Given the description of an element on the screen output the (x, y) to click on. 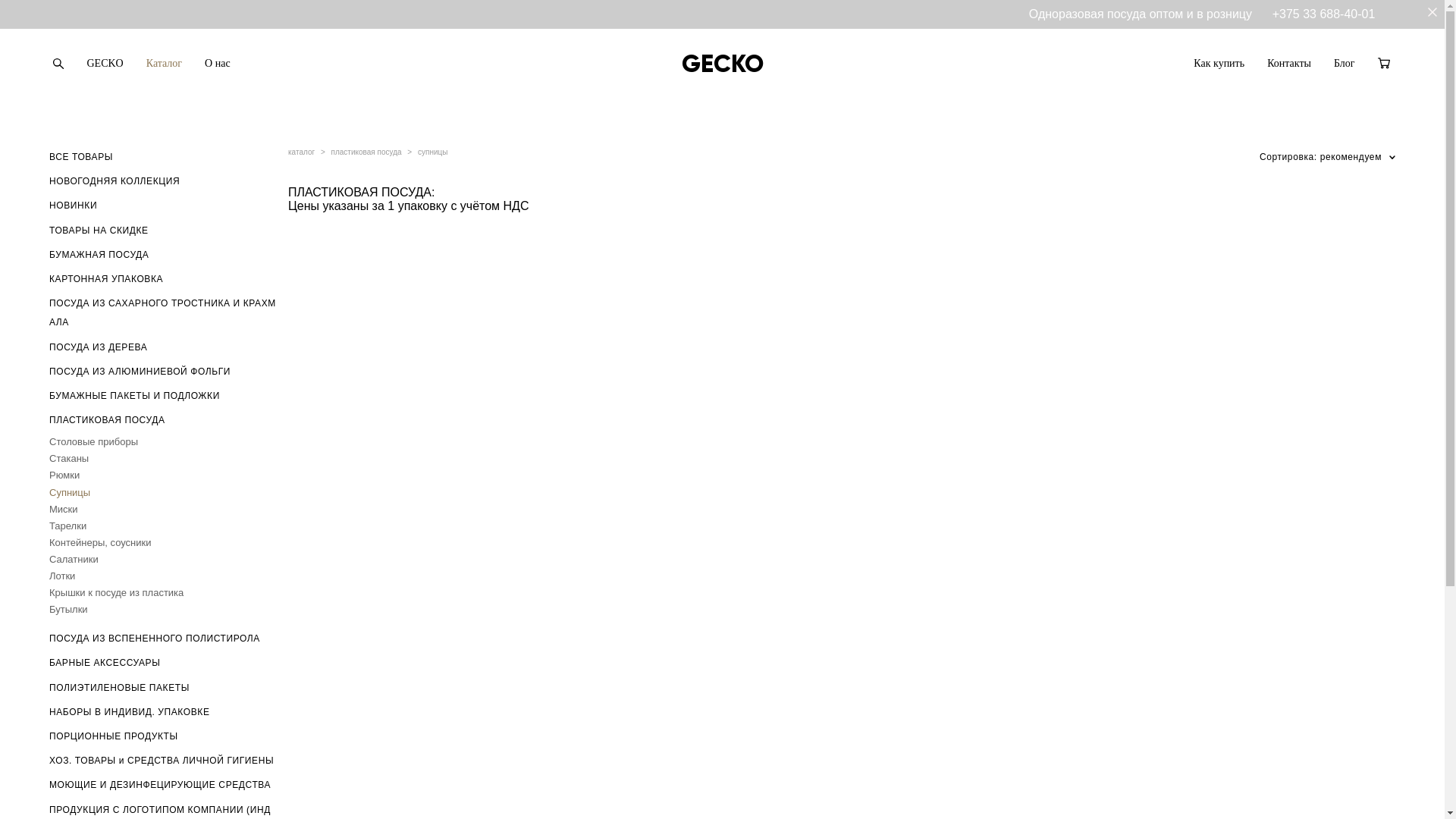
GECKO Element type: text (721, 63)
+375 33 688-40-01 Element type: text (1323, 13)
GECKO Element type: text (104, 63)
